Given the description of an element on the screen output the (x, y) to click on. 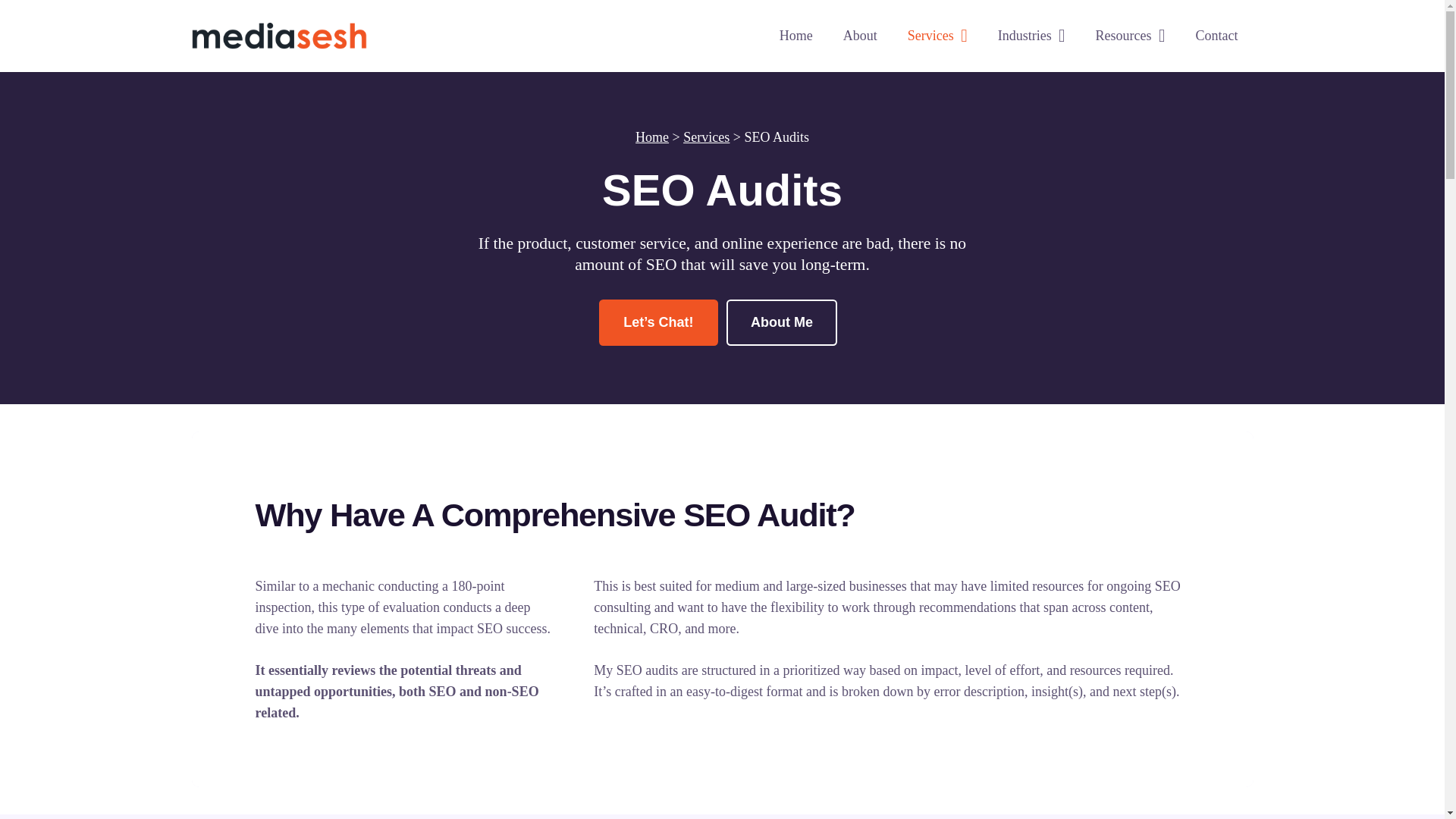
Contact (1215, 36)
Home (651, 136)
Home (796, 36)
Services (705, 136)
About (860, 36)
Services (937, 36)
About Me (782, 321)
Industries (1031, 36)
Resources (1130, 36)
